Given the description of an element on the screen output the (x, y) to click on. 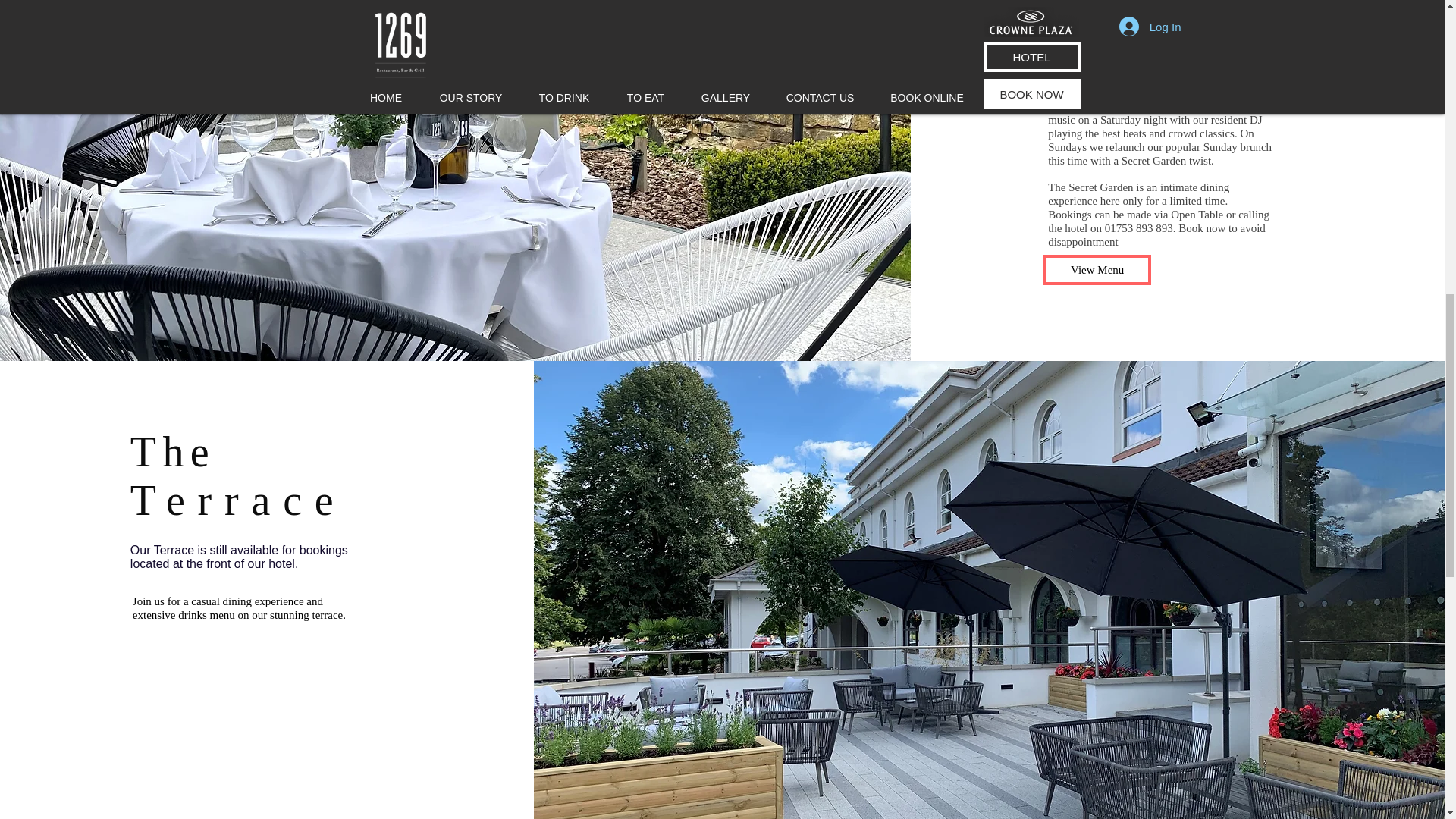
View Menu (1097, 269)
